Given the description of an element on the screen output the (x, y) to click on. 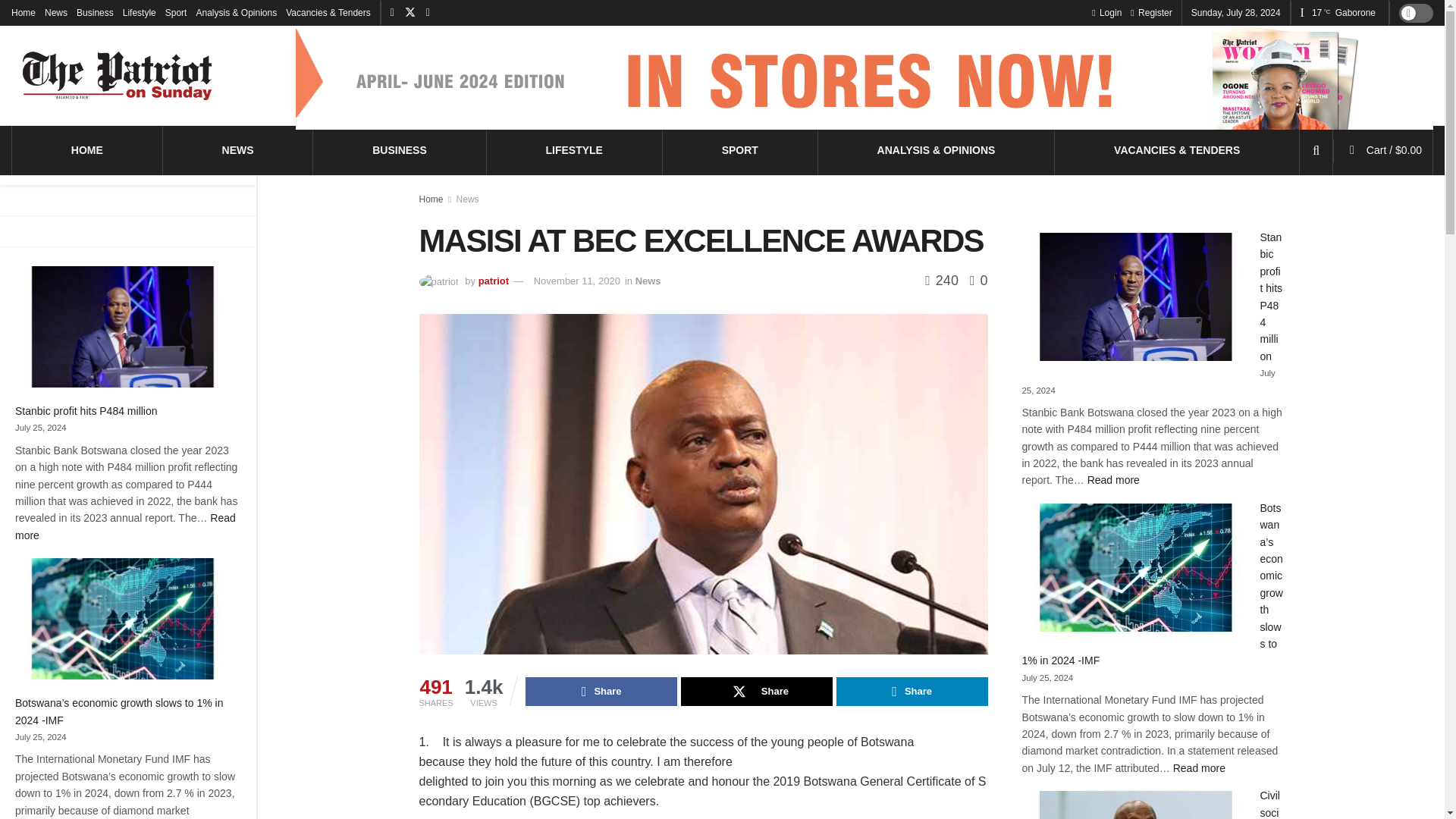
Home (22, 12)
View your shopping cart (1394, 150)
Register (1151, 12)
Lifestyle (138, 12)
Stanbic profit hits P484 million  (87, 410)
LIFESTYLE (573, 149)
NEWS (124, 525)
SPORT (237, 149)
Business (740, 149)
HOME (95, 12)
Login (87, 149)
BUSINESS (1106, 12)
